Given the description of an element on the screen output the (x, y) to click on. 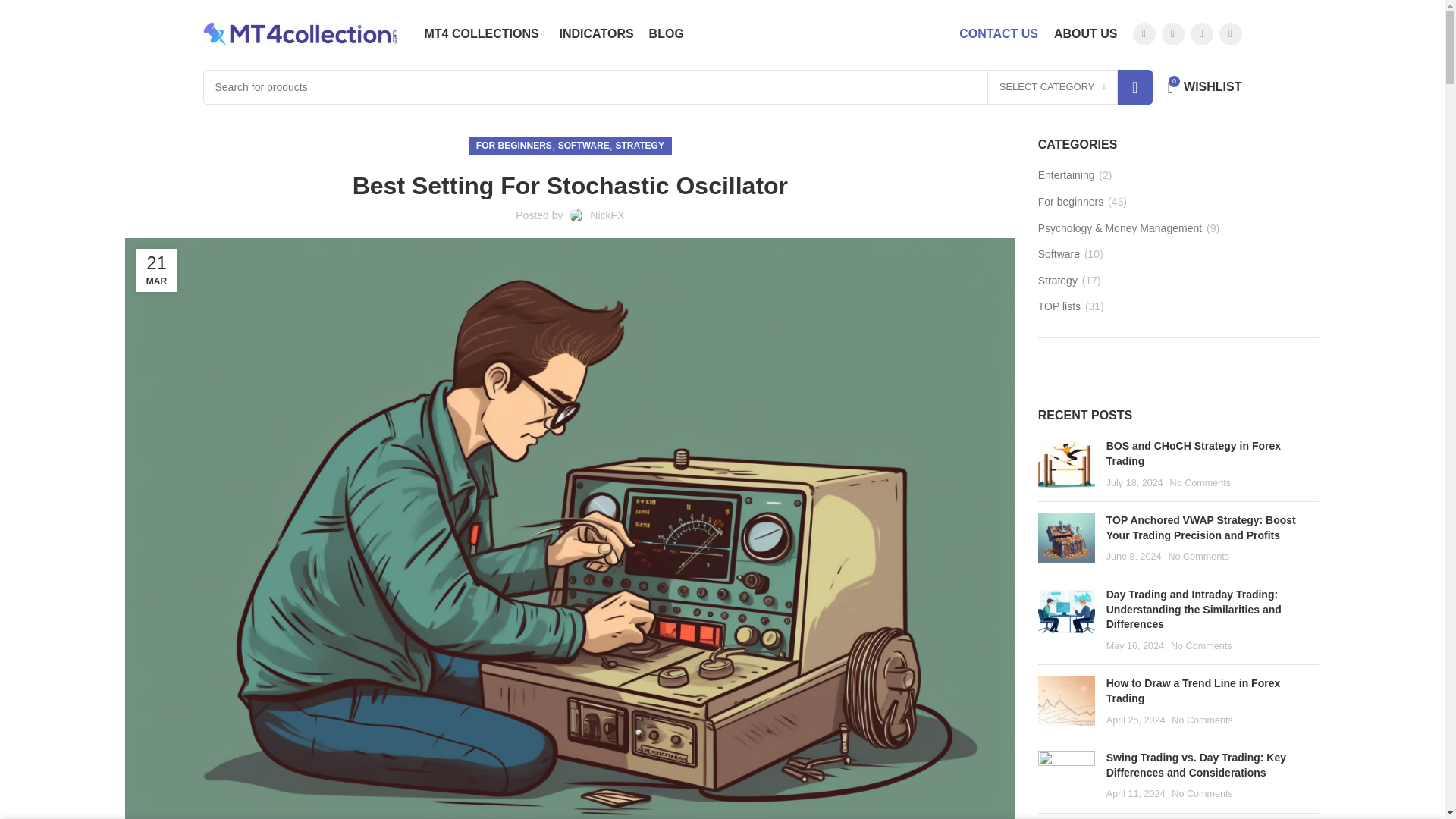
Permalink to How to Draw a Trend Line in Forex Trading (1192, 690)
MT4 COLLECTIONS (484, 33)
Search for products (678, 86)
My Wishlist (1204, 87)
SELECT CATEGORY (1052, 87)
Permalink to BOS and CHoCH Strategy in Forex Trading (1193, 452)
